Given the description of an element on the screen output the (x, y) to click on. 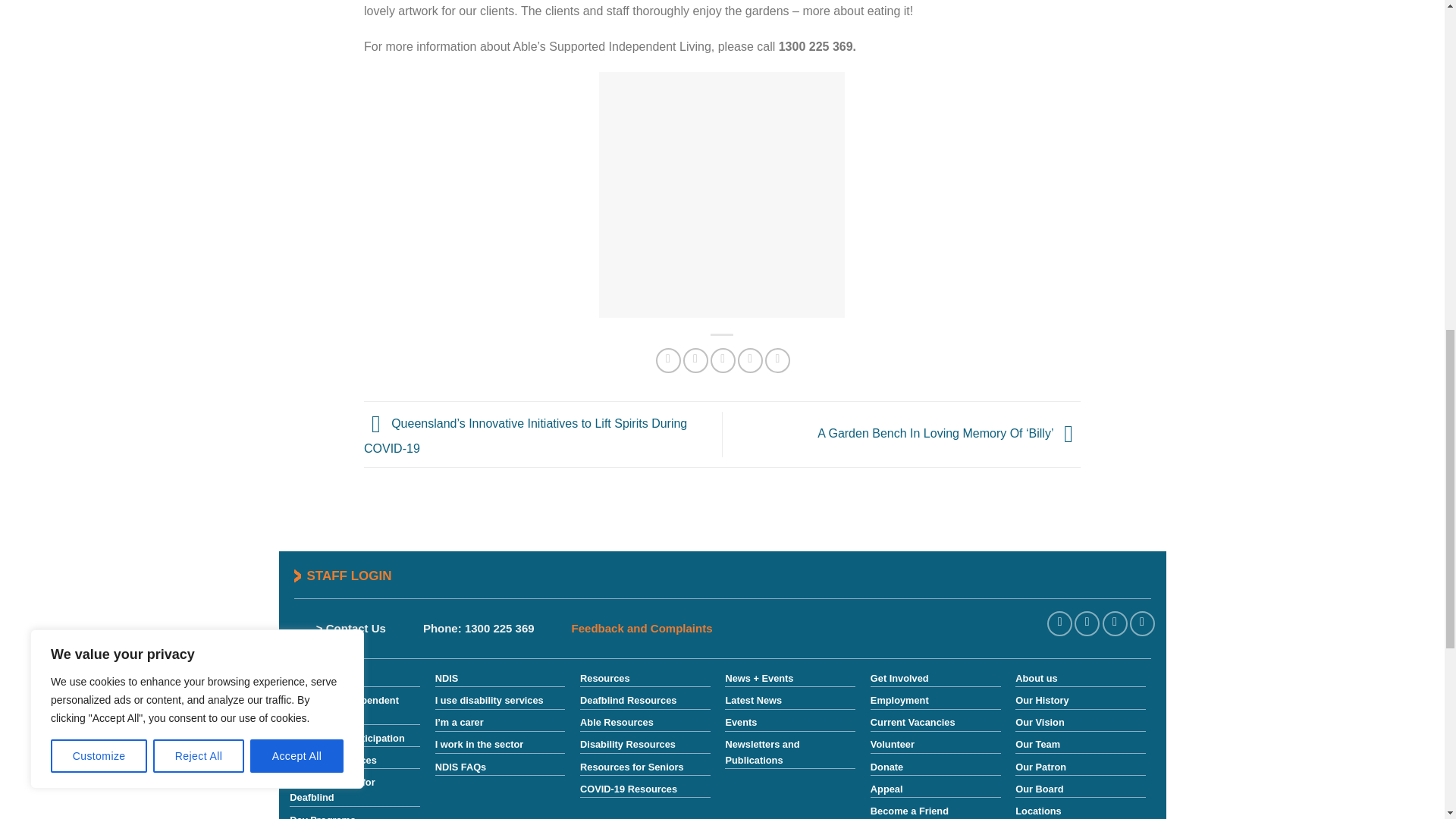
Share on Twitter (694, 360)
Share on Facebook (668, 360)
Email to a Friend (722, 360)
